Given the description of an element on the screen output the (x, y) to click on. 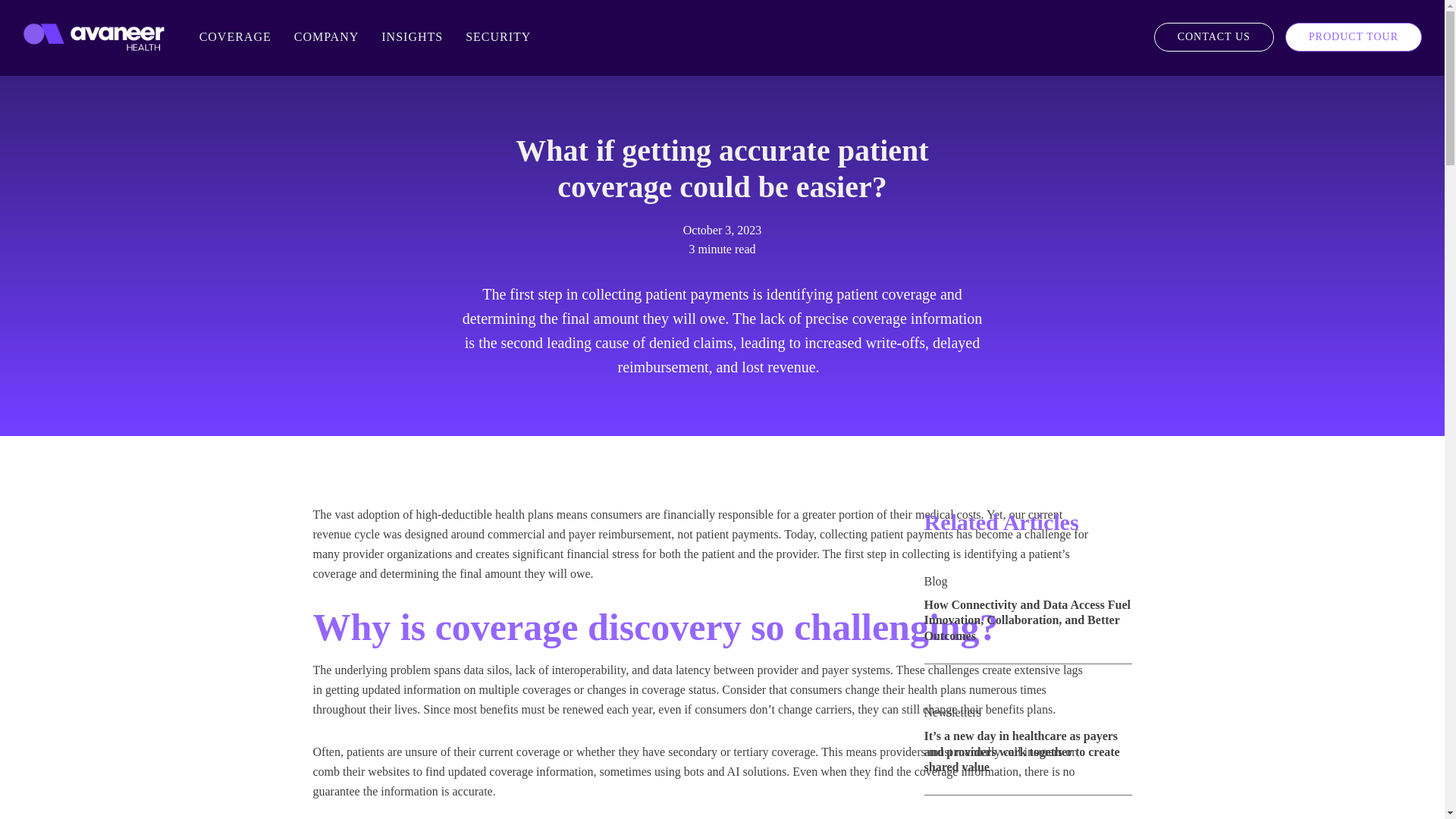
CONTACT US (1214, 36)
SECURITY (497, 37)
COMPANY (326, 37)
PRODUCT TOUR (1353, 36)
COVERAGE (234, 37)
INSIGHTS (411, 37)
Newsletters (952, 712)
Blog (935, 581)
